Given the description of an element on the screen output the (x, y) to click on. 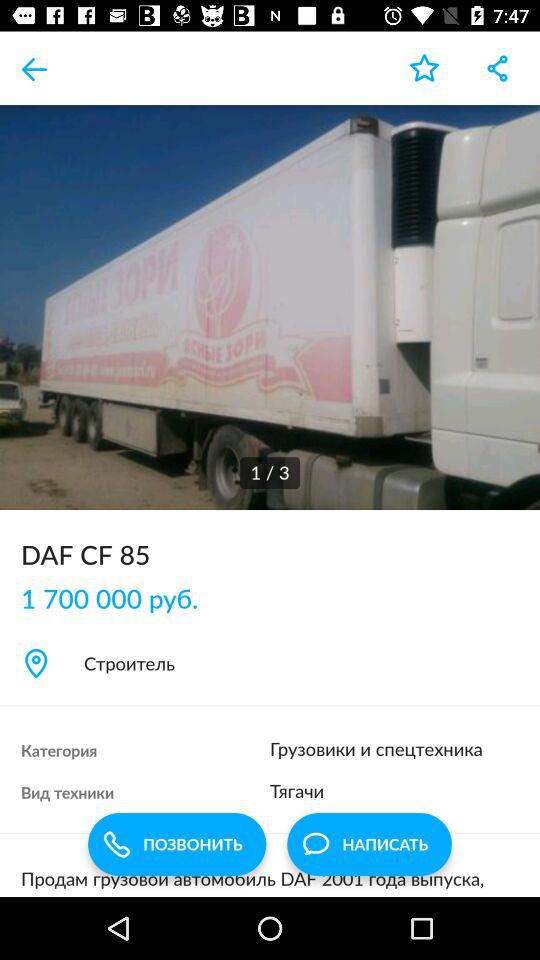
select the text placed below daf cf 85 (120, 597)
click on the icon on the top left side corner (36, 68)
click on the icon on the left side of share icon (424, 68)
